Given the description of an element on the screen output the (x, y) to click on. 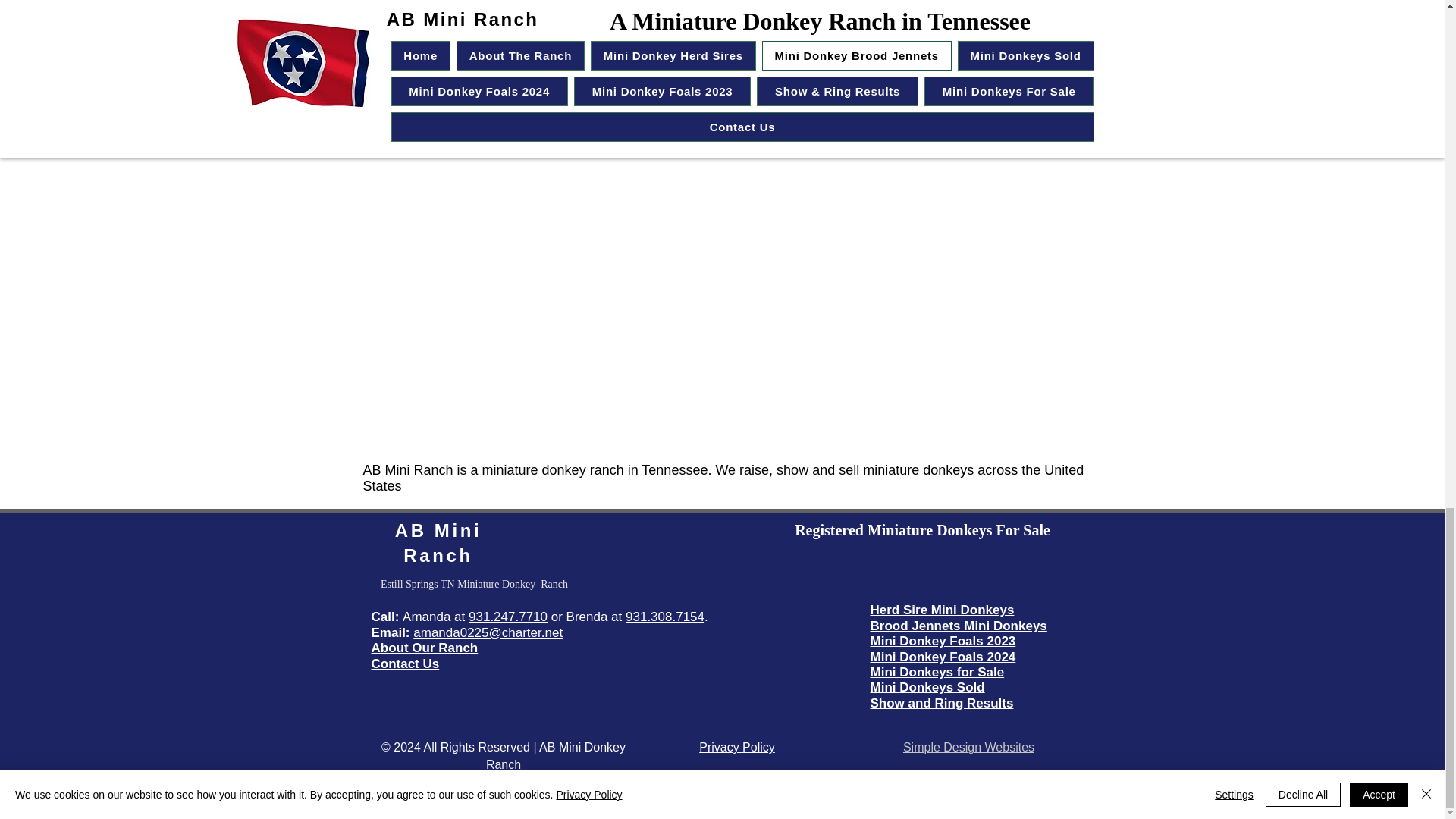
Mini Donkey Foals 2023 (943, 640)
Herd Sire Mini Donkeys (942, 609)
931.247.7710 (507, 616)
Simple Design Websites (967, 747)
AB Mini Ranch (437, 543)
Privacy Policy (736, 747)
931.308.7154 (665, 616)
Estill Springs TN Miniature Donkey  Ranch (473, 583)
Mini Donkeys for Sale (937, 672)
Mini Donkeys Sold (927, 687)
